Given the description of an element on the screen output the (x, y) to click on. 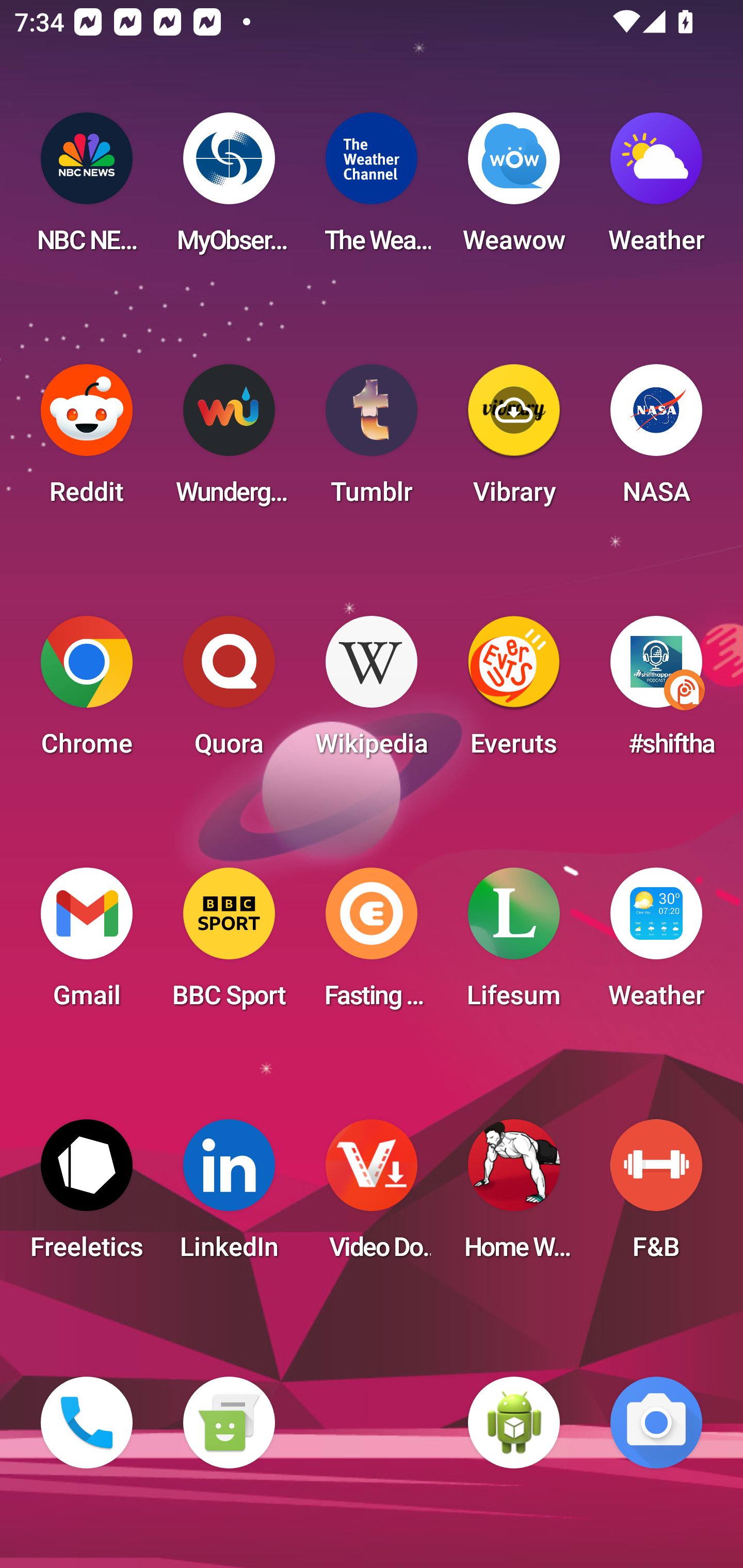
NBC NEWS (86, 188)
MyObservatory (228, 188)
The Weather Channel (371, 188)
Weawow (513, 188)
Weather (656, 188)
Reddit (86, 440)
Wunderground (228, 440)
Tumblr (371, 440)
Vibrary (513, 440)
NASA (656, 440)
Chrome (86, 692)
Quora (228, 692)
Wikipedia (371, 692)
Everuts (513, 692)
#shifthappens in the Digital Workplace Podcast (656, 692)
Gmail (86, 943)
BBC Sport (228, 943)
Fasting Coach (371, 943)
Lifesum (513, 943)
Weather (656, 943)
Freeletics (86, 1195)
LinkedIn (228, 1195)
Video Downloader & Ace Player (371, 1195)
Home Workout (513, 1195)
F&B (656, 1195)
Phone (86, 1422)
Messaging (228, 1422)
WebView Browser Tester (513, 1422)
Camera (656, 1422)
